Given the description of an element on the screen output the (x, y) to click on. 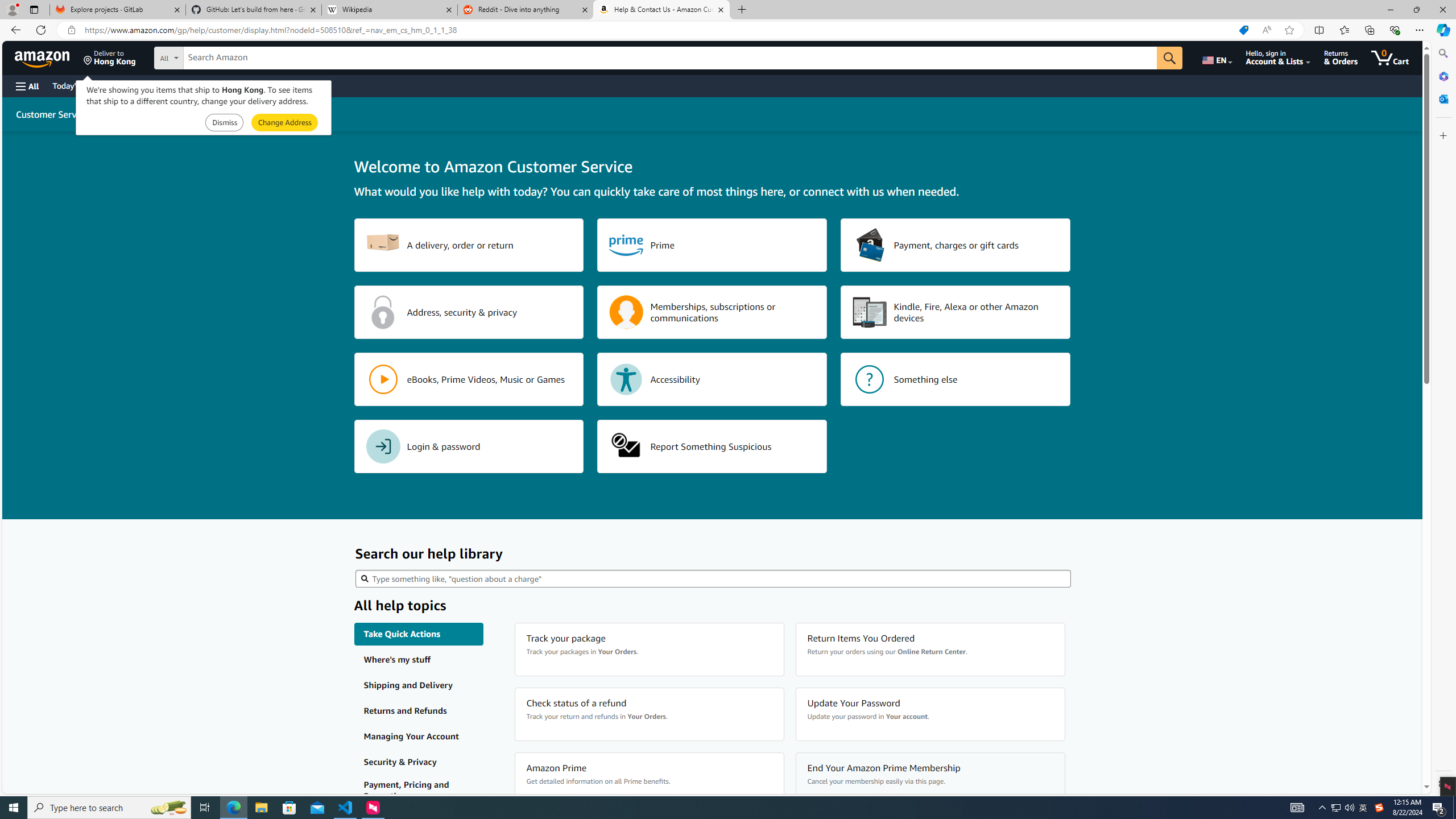
Memberships, subscriptions or communications (711, 312)
Accessibility (711, 379)
